Given the description of an element on the screen output the (x, y) to click on. 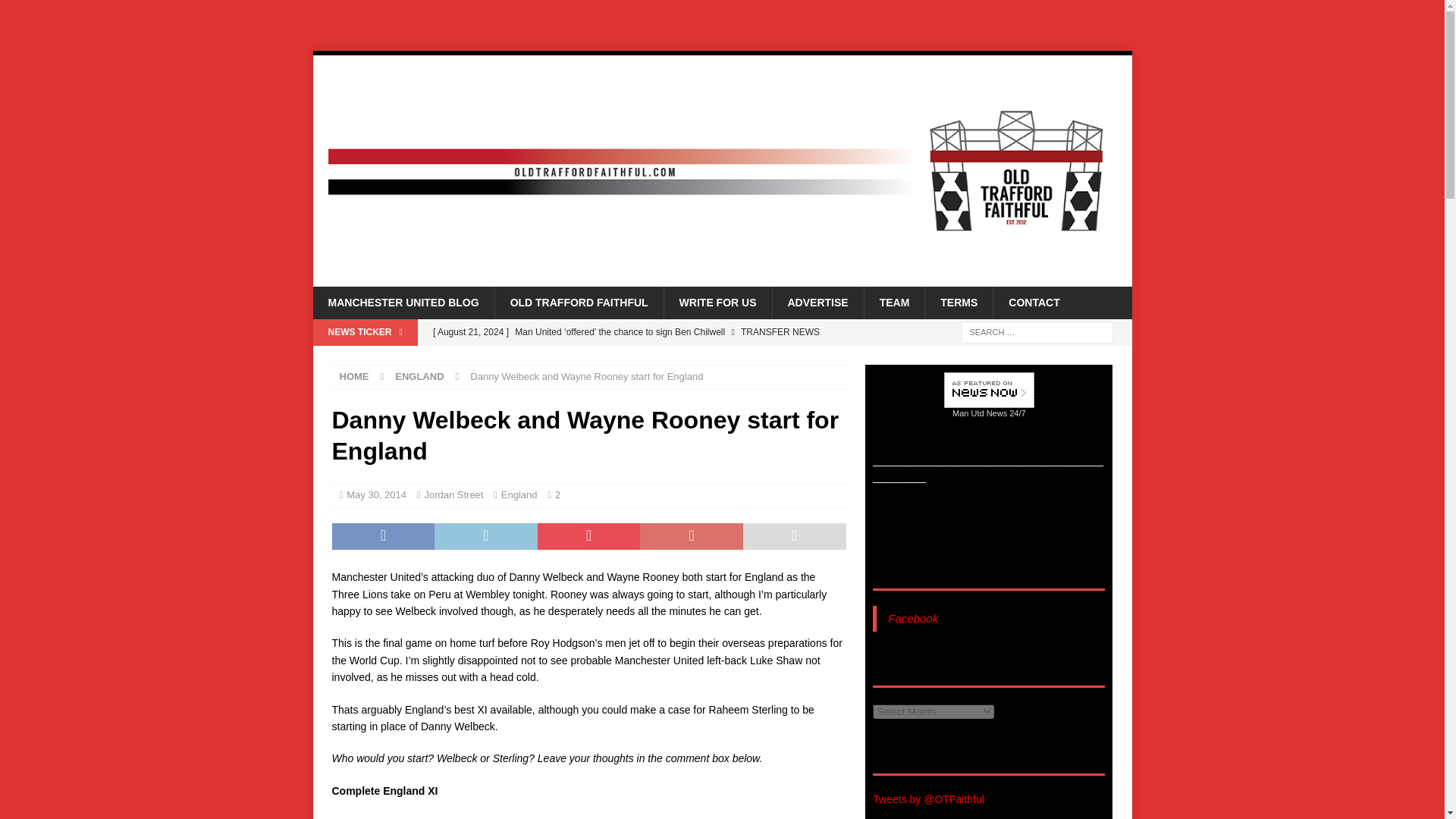
OLD TRAFFORD FAITHFUL (579, 302)
MANCHESTER UNITED BLOG (403, 302)
ADVERTISE (817, 302)
ENGLAND (419, 376)
WRITE FOR US (717, 302)
HOME (354, 376)
TERMS (958, 302)
May 30, 2014 (376, 494)
TEAM (893, 302)
England (518, 494)
